Given the description of an element on the screen output the (x, y) to click on. 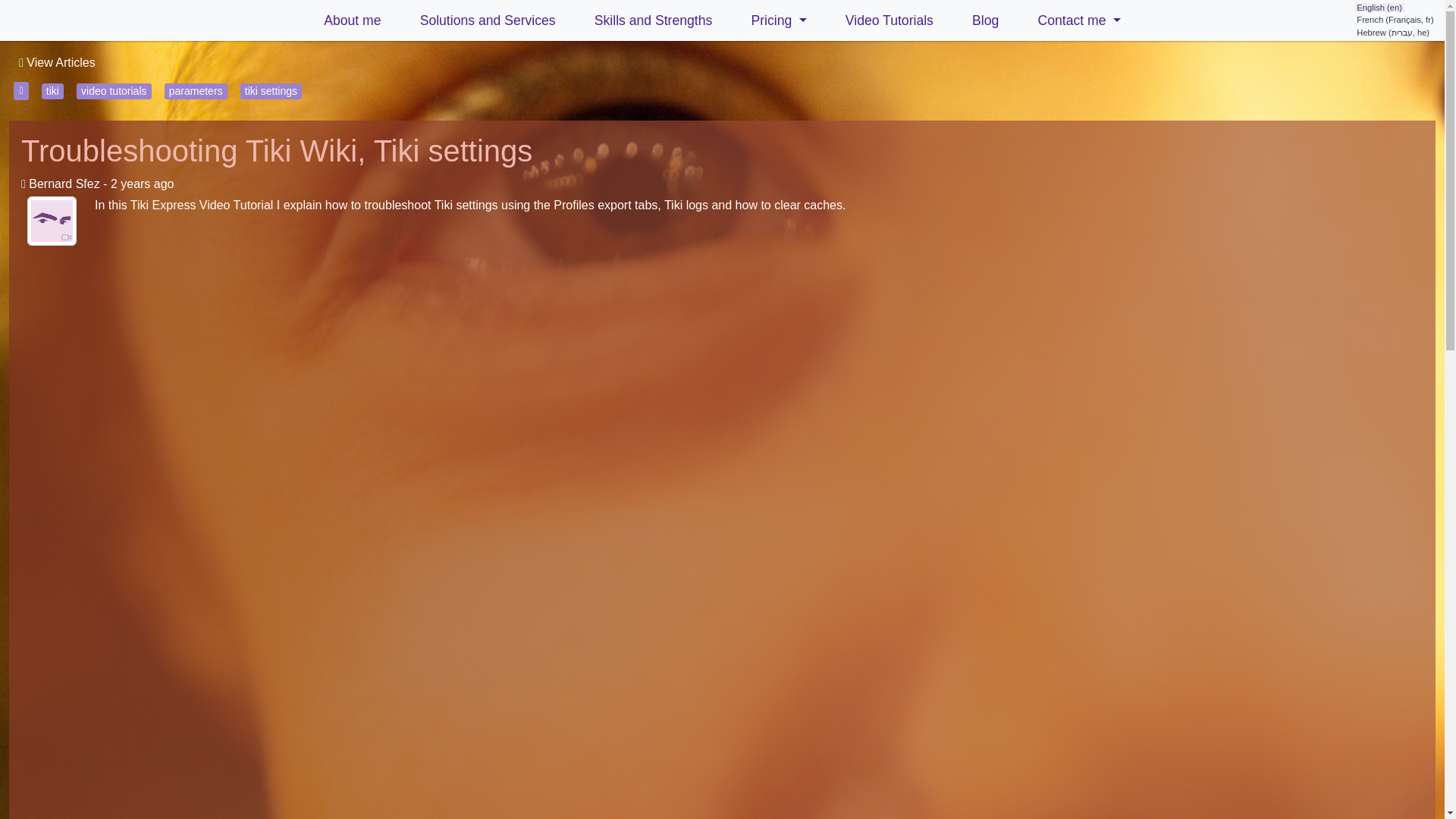
tiki (53, 91)
video tutorials (114, 91)
Troubleshooting Tiki Wiki, Tiki settings (276, 150)
parameters (195, 91)
View Articles (56, 62)
tiki settings (270, 91)
View Articles (56, 62)
